Given the description of an element on the screen output the (x, y) to click on. 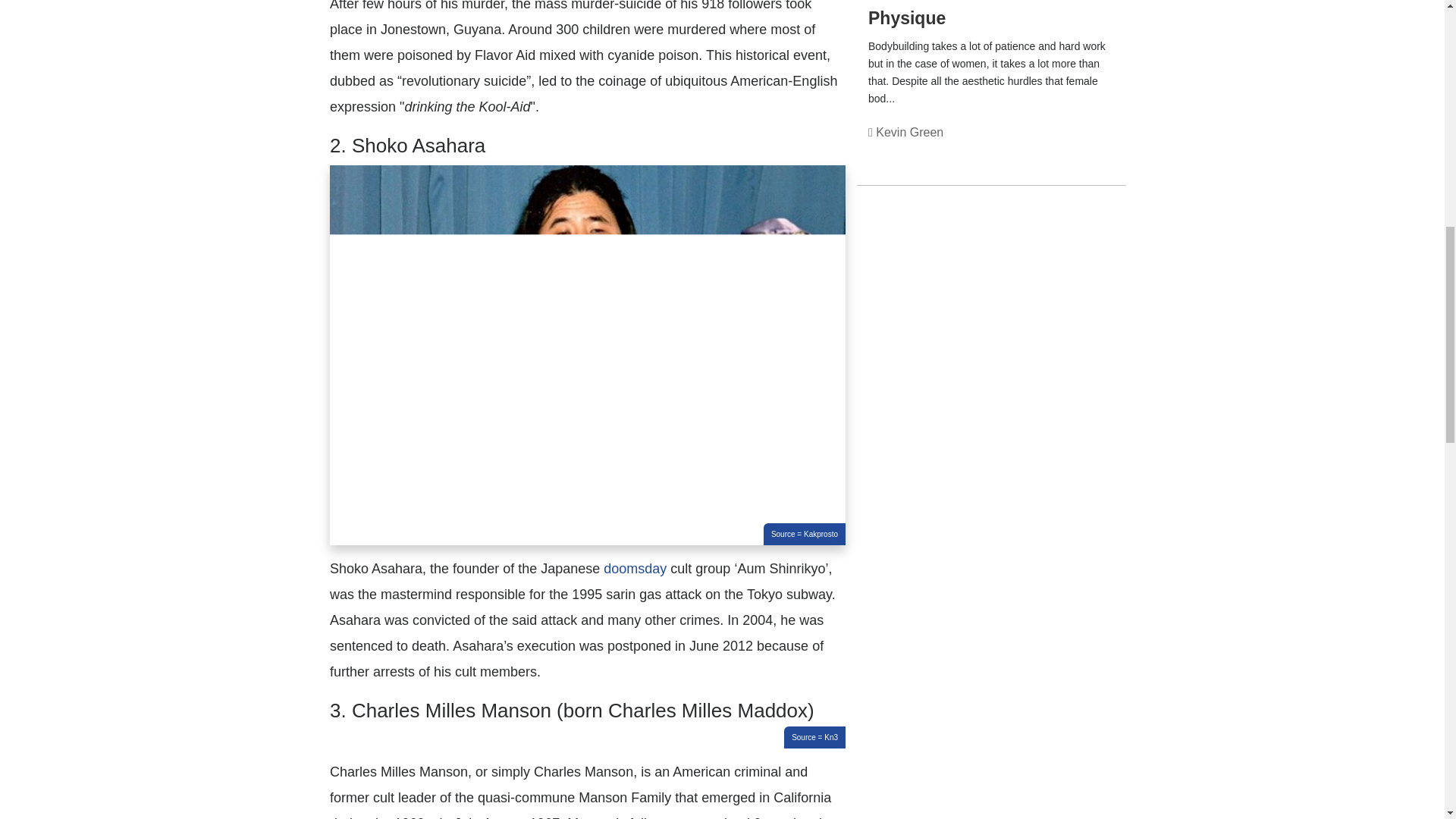
People (1081, 149)
doomsday (635, 568)
15 Black Female Bodybuilders With Insane Physique (974, 13)
15 Black Female Bodybuilders With Insane Physique (974, 13)
People (1081, 149)
